Given the description of an element on the screen output the (x, y) to click on. 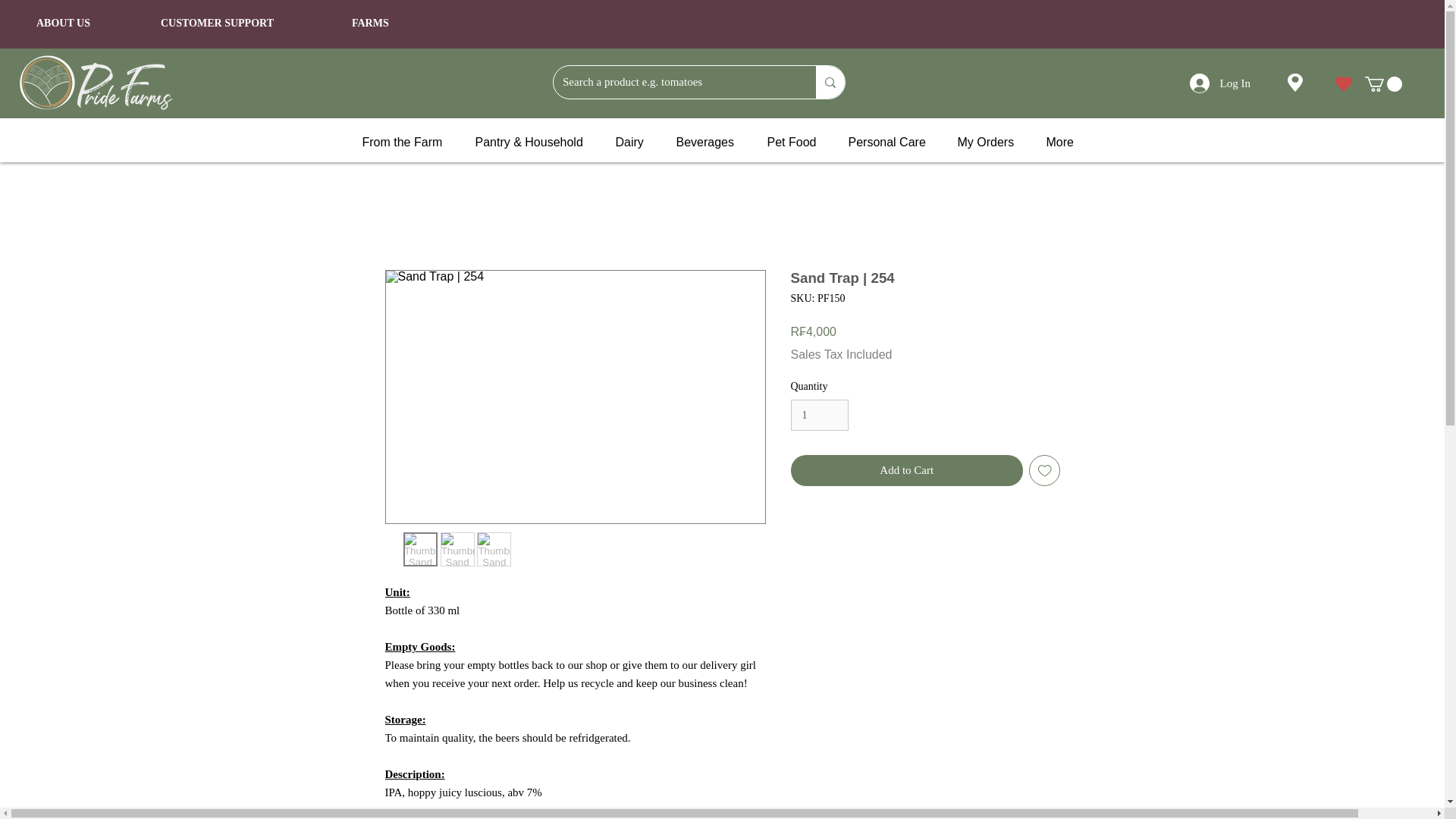
ABOUT US (63, 22)
My Orders (990, 142)
1 (818, 414)
CUSTOMER SUPPORT (216, 22)
FARMS (370, 22)
Log In (1219, 82)
